Given the description of an element on the screen output the (x, y) to click on. 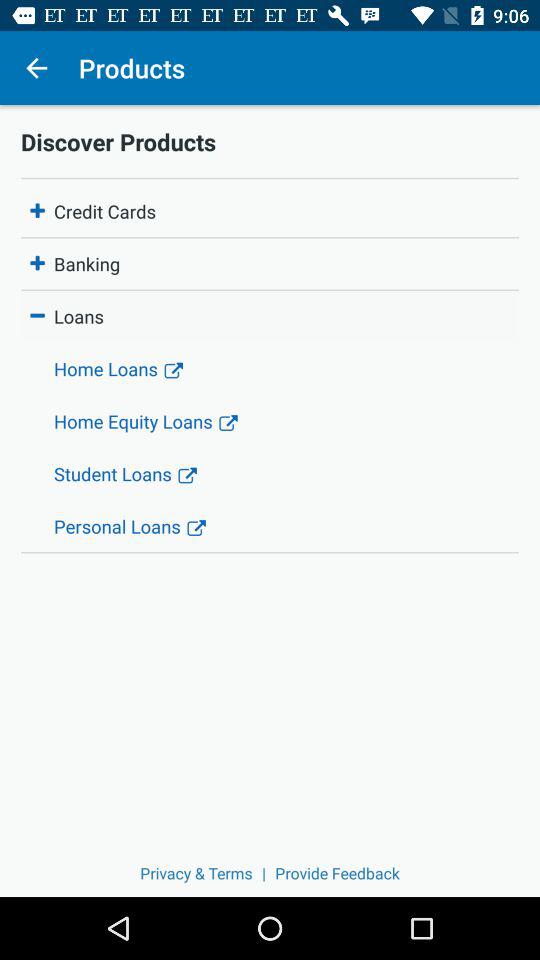
choose the icon next to products (36, 68)
